Given the description of an element on the screen output the (x, y) to click on. 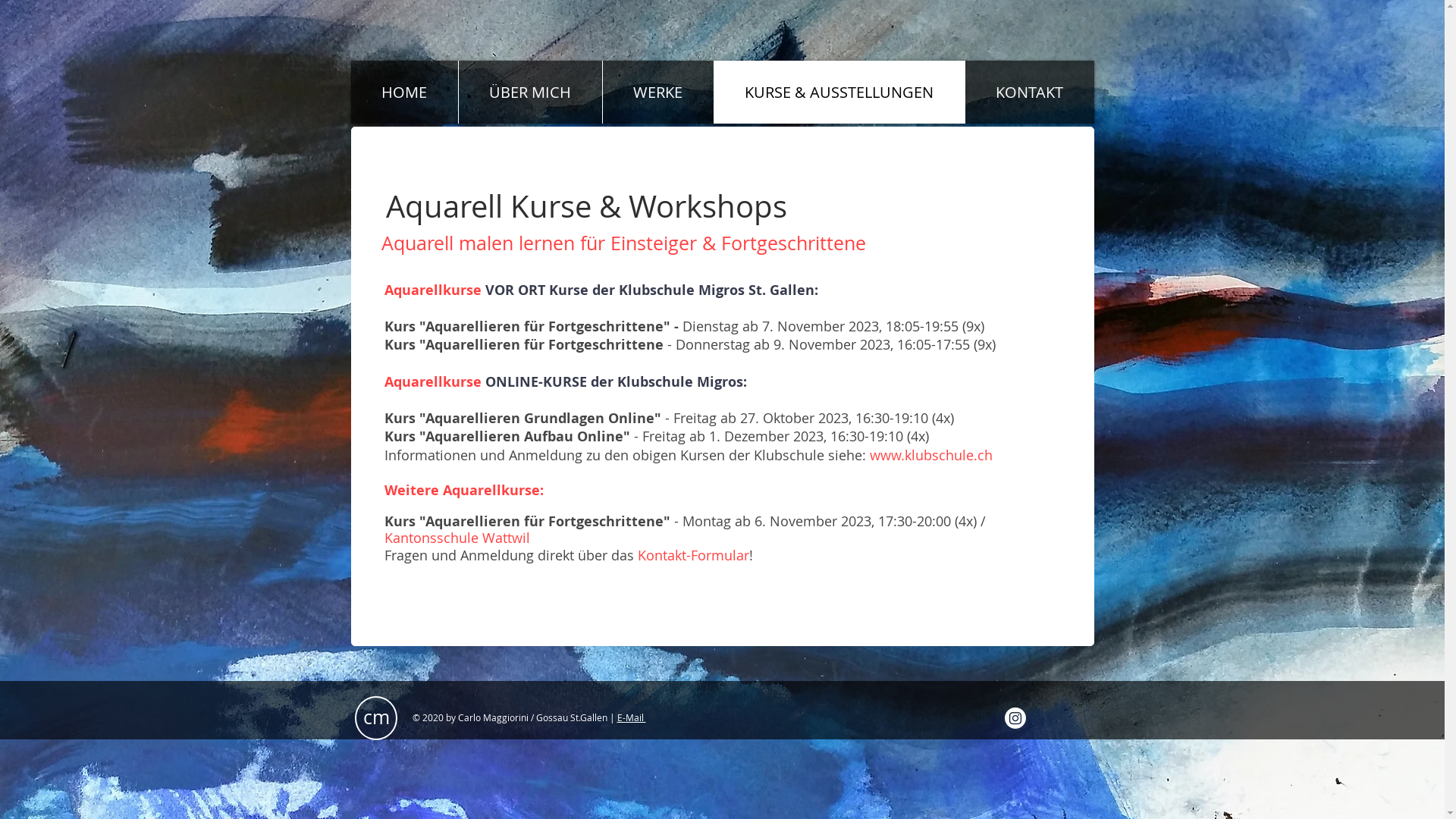
Kantonsschule Wattwil Element type: text (456, 537)
Kontakt-Formular Element type: text (692, 555)
E-Mail  Element type: text (631, 717)
KURSE & AUSSTELLUNGEN Element type: text (837, 91)
www.klubschule.ch Element type: text (930, 454)
HOME Element type: text (403, 91)
KONTAKT Element type: text (1029, 91)
WERKE Element type: text (657, 91)
